Given the description of an element on the screen output the (x, y) to click on. 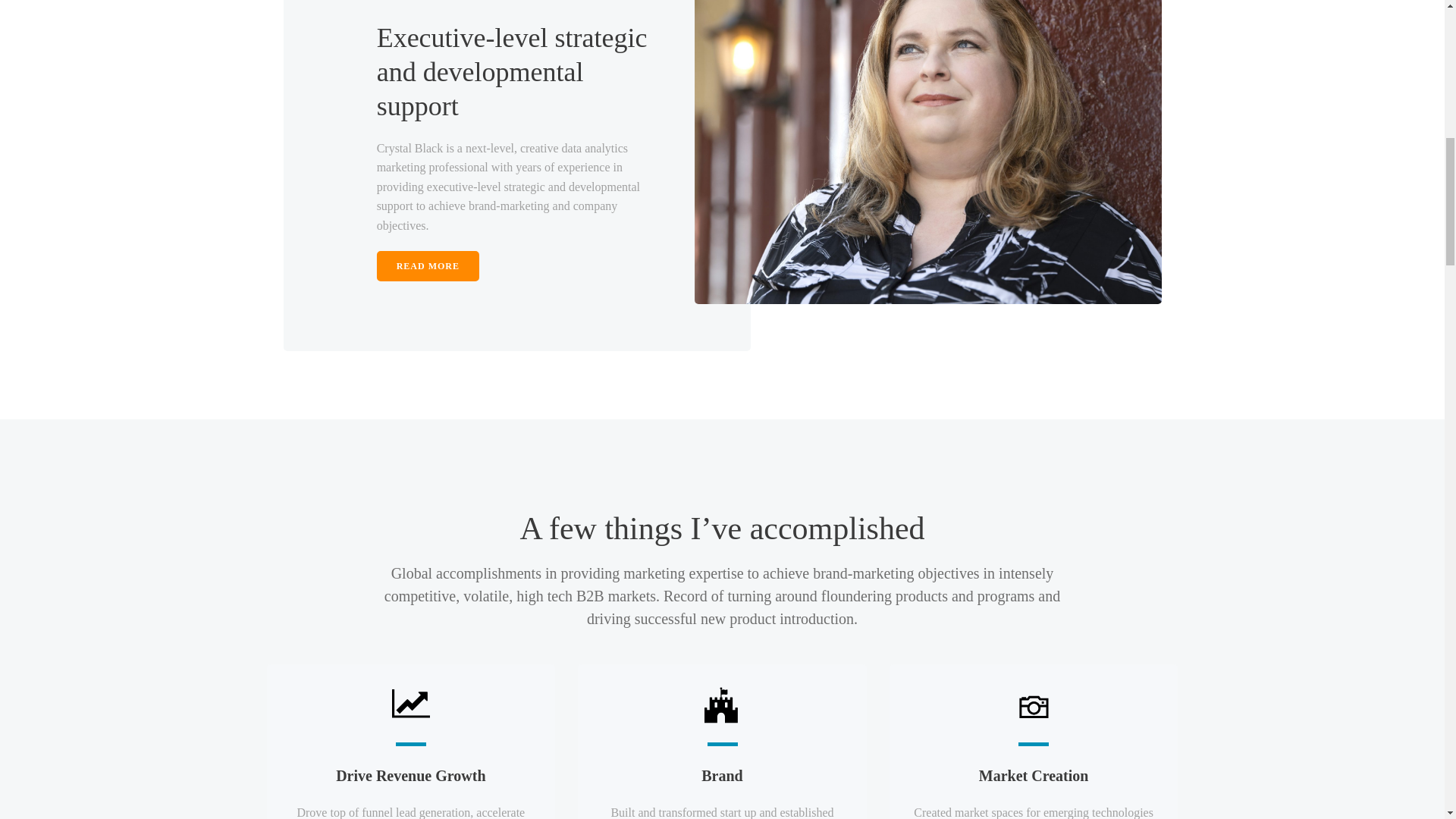
READ MORE (428, 265)
